Given the description of an element on the screen output the (x, y) to click on. 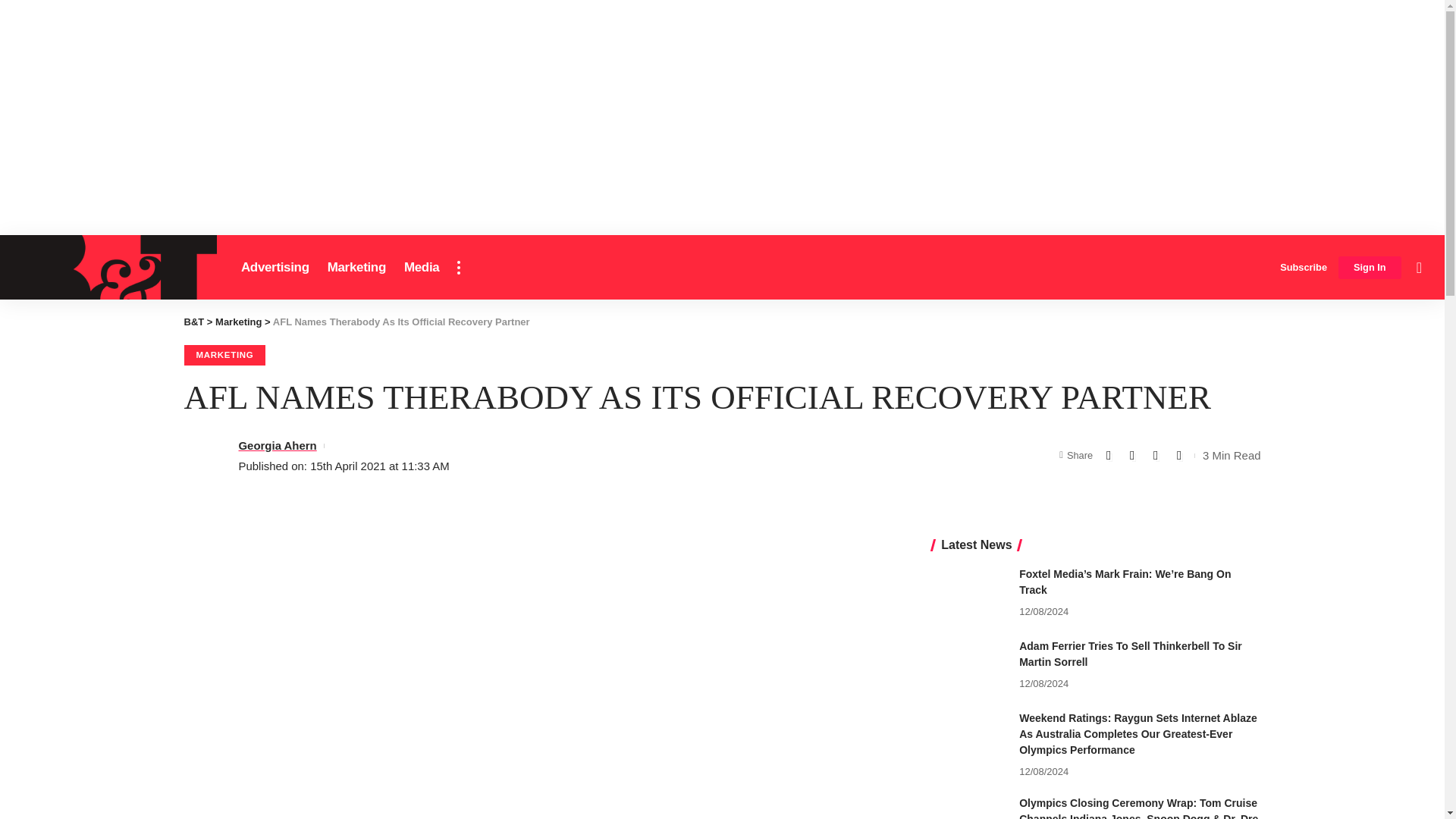
Go to the Marketing Category archives. (238, 321)
Marketing (356, 267)
Advertising (274, 267)
Sign In (1369, 267)
